Given the description of an element on the screen output the (x, y) to click on. 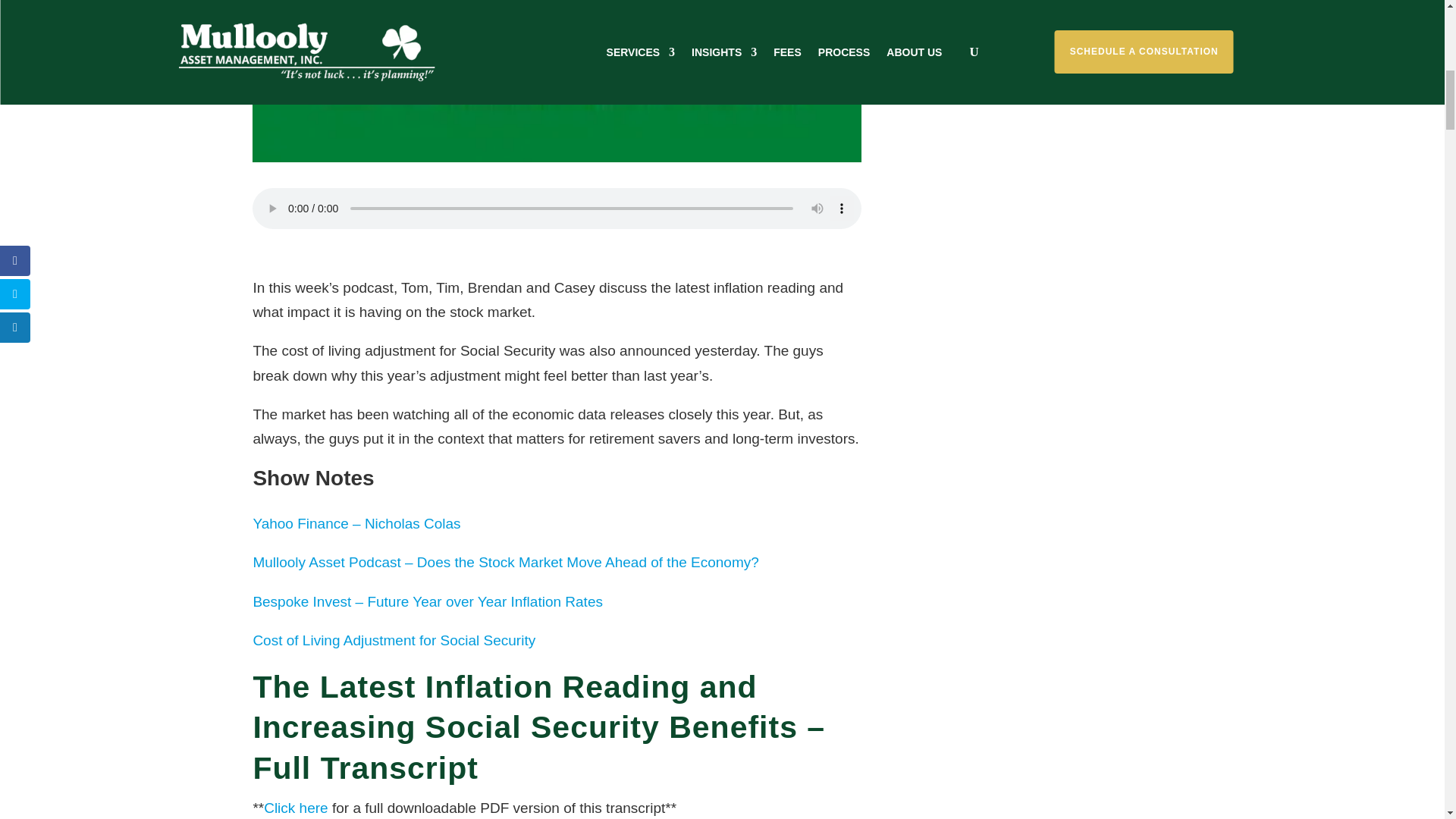
Cost of Living Adjustment for Social Security (393, 640)
